Given the description of an element on the screen output the (x, y) to click on. 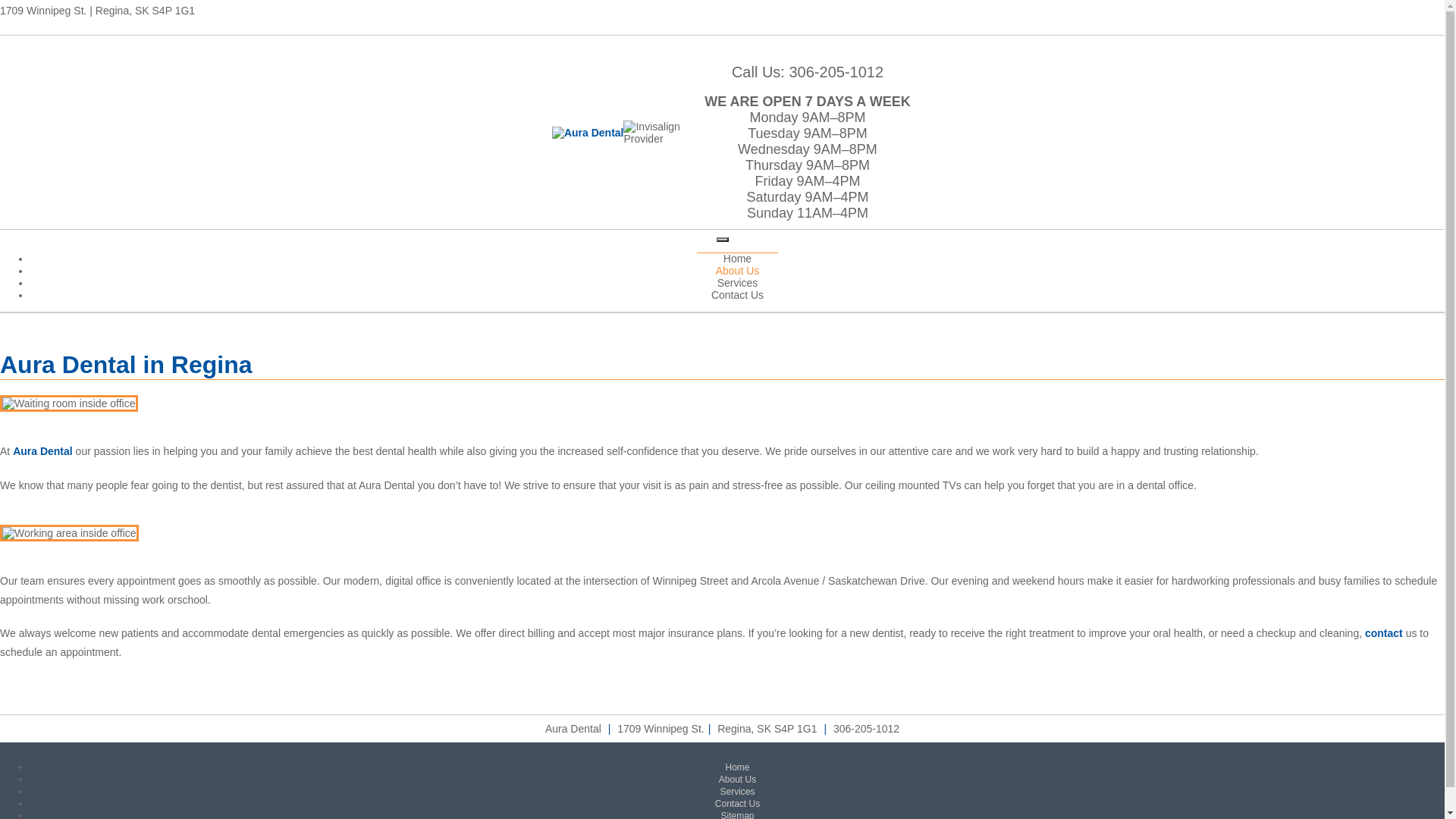
Aura Dental Element type: hover (588, 131)
About Us Element type: text (737, 779)
Invisalign Provider Element type: hover (654, 131)
Home Element type: text (736, 767)
Home Element type: text (737, 258)
Contact Us Element type: text (737, 803)
Services Element type: text (737, 282)
Aura Dental Element type: text (42, 451)
Working area inside office Element type: hover (69, 532)
contact Element type: text (1383, 633)
306-205-1012 Element type: text (866, 728)
306-205-1012 Element type: text (835, 71)
About Us Element type: text (737, 270)
Contact Us Element type: text (737, 294)
Services Element type: text (736, 791)
Waiting room inside office Element type: hover (69, 403)
